Given the description of an element on the screen output the (x, y) to click on. 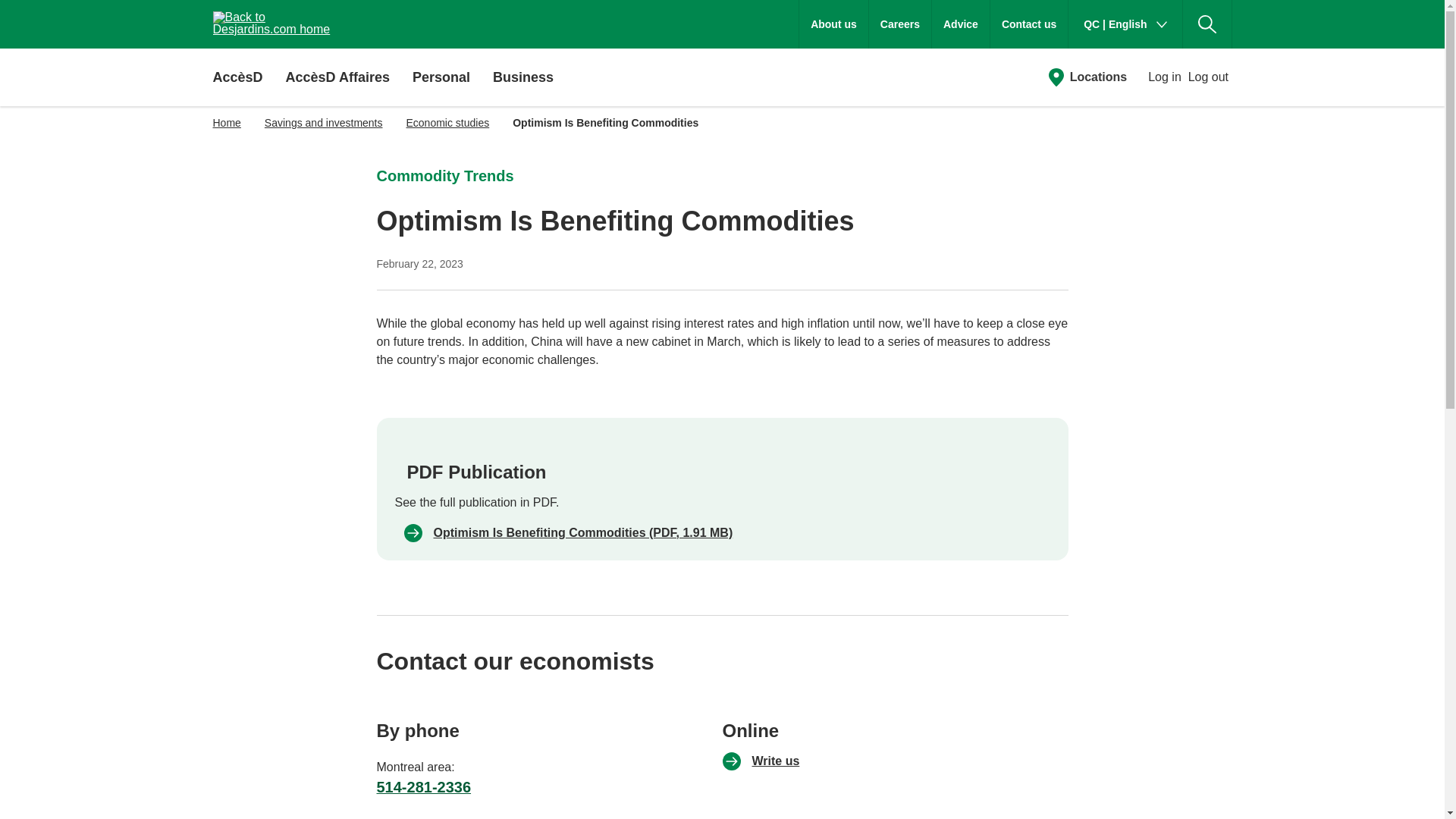
Careers (900, 24)
Advice (960, 24)
Search (1206, 24)
Business (523, 76)
About us (833, 24)
Contact us (1028, 24)
Personal (441, 76)
Locations (1086, 76)
